Given the description of an element on the screen output the (x, y) to click on. 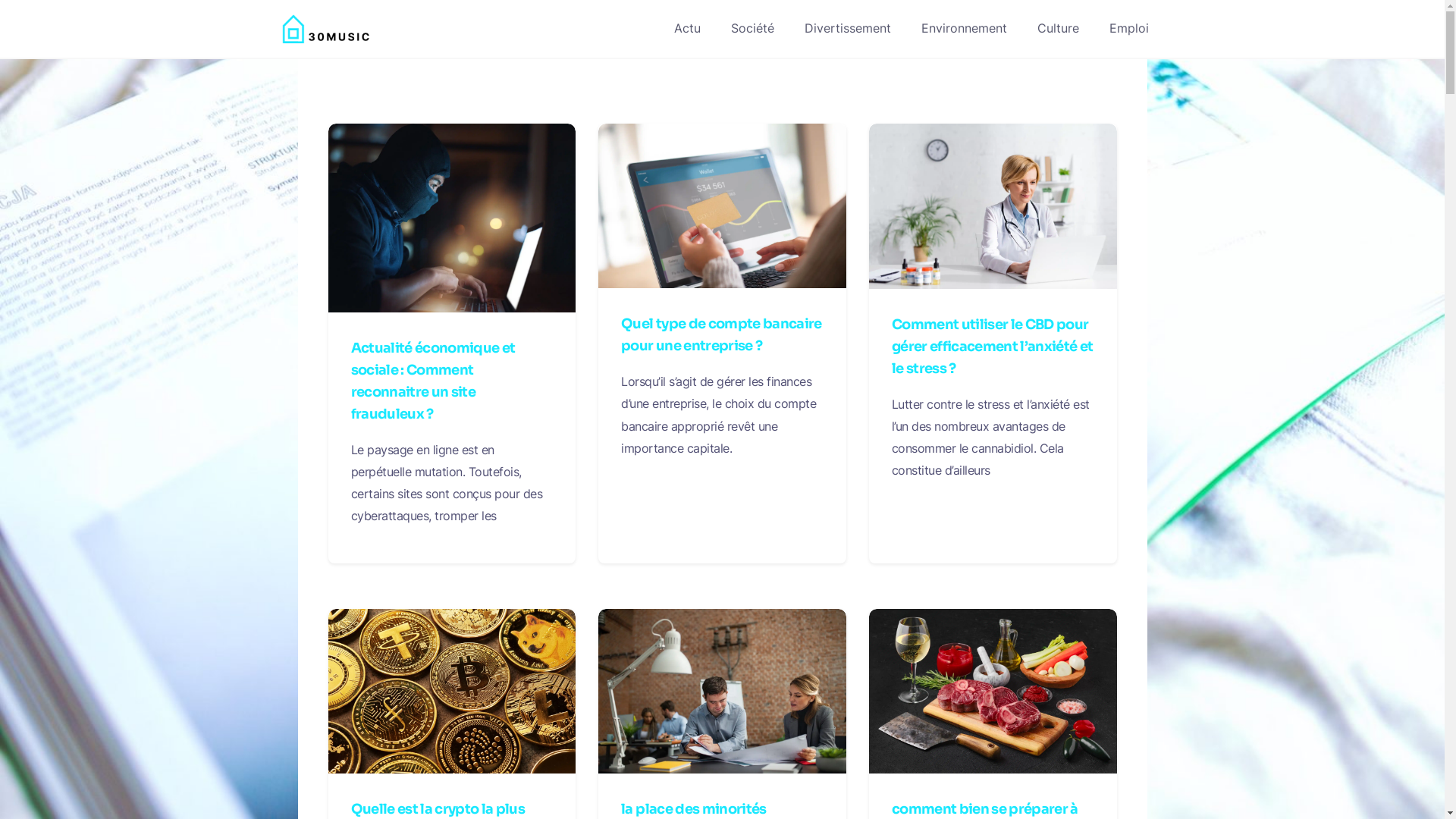
Environnement Element type: text (963, 28)
Culture Element type: text (1057, 28)
Emploi Element type: text (1128, 28)
Actu Element type: text (687, 28)
Divertissement Element type: text (847, 28)
Quel type de compte bancaire pour une entreprise ? Element type: text (721, 334)
